Given the description of an element on the screen output the (x, y) to click on. 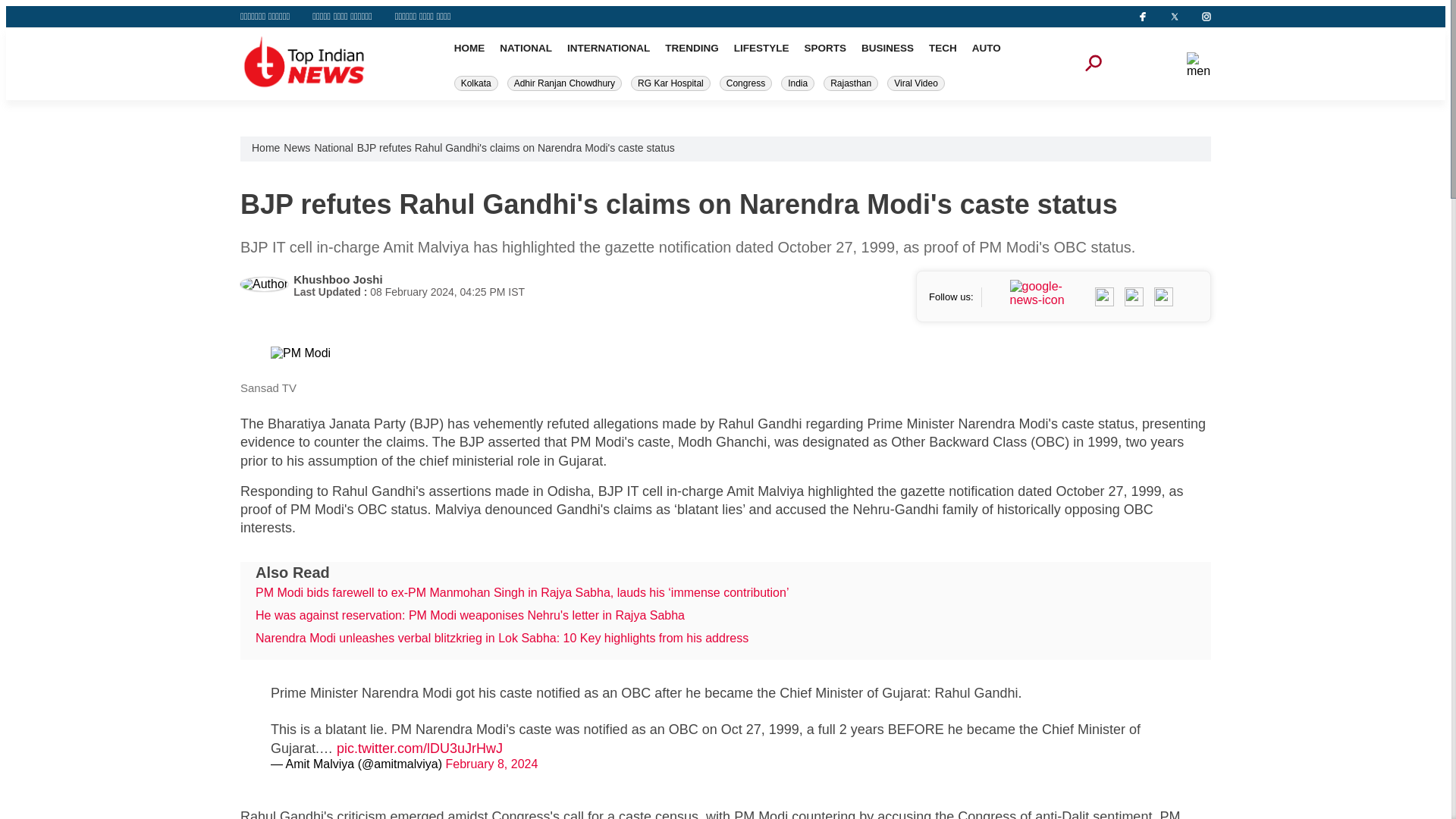
INTERNATIONAL (608, 48)
Adhir Ranjan Chowdhury (563, 83)
TECH (942, 48)
SPORTS (824, 48)
Top Indian News Facebook (1133, 296)
Google News (1048, 295)
NATIONAL (525, 48)
HOME (469, 48)
India (796, 83)
Home (265, 147)
